Given the description of an element on the screen output the (x, y) to click on. 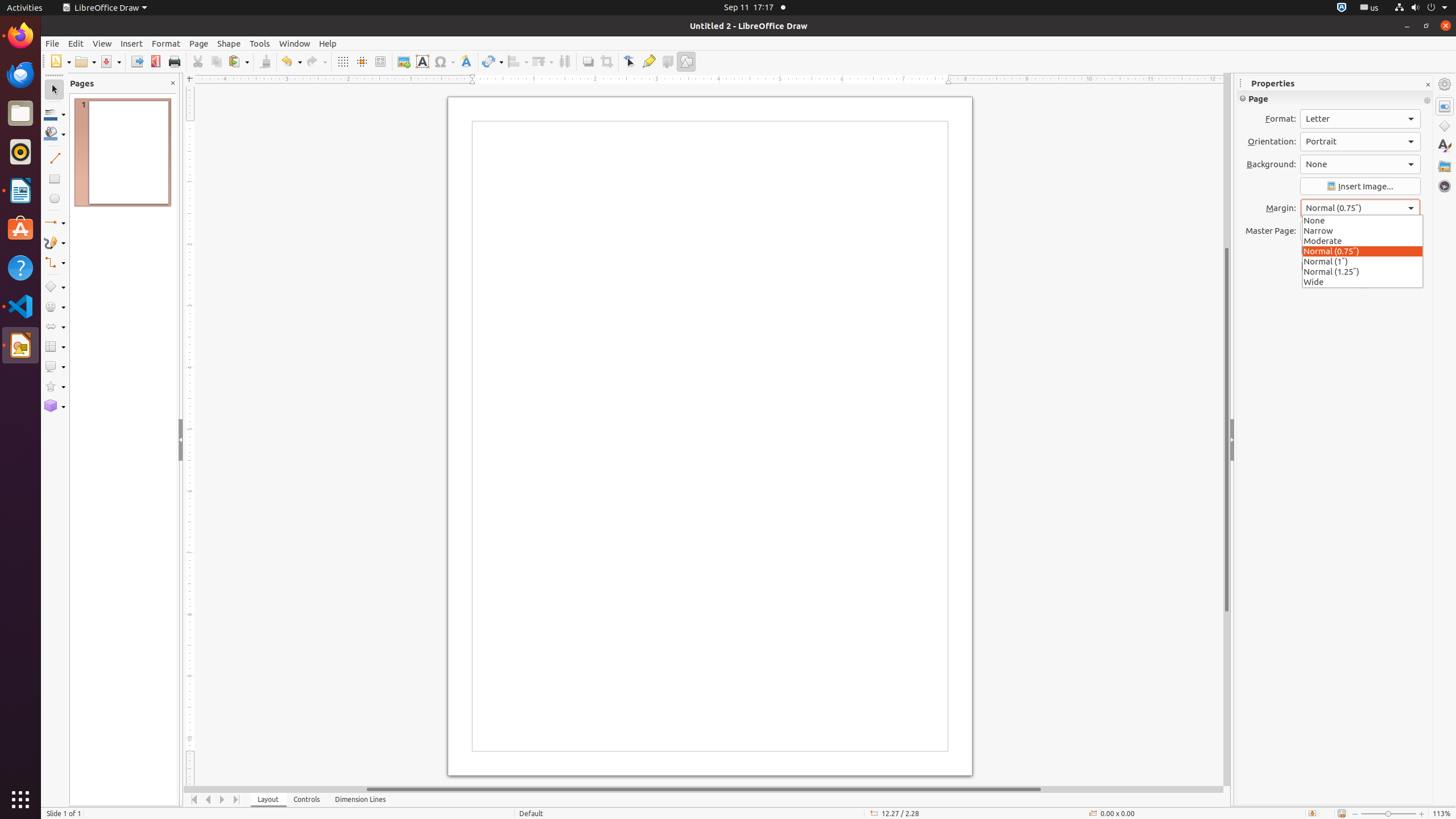
Gallery Element type: radio-button (1444, 165)
Normal (0.75″) Element type: list-item (1362, 250)
Lines and Arrows Element type: push-button (54, 222)
Horizontal scroll bar Element type: scroll-bar (703, 789)
New Element type: push-button (59, 61)
